Given the description of an element on the screen output the (x, y) to click on. 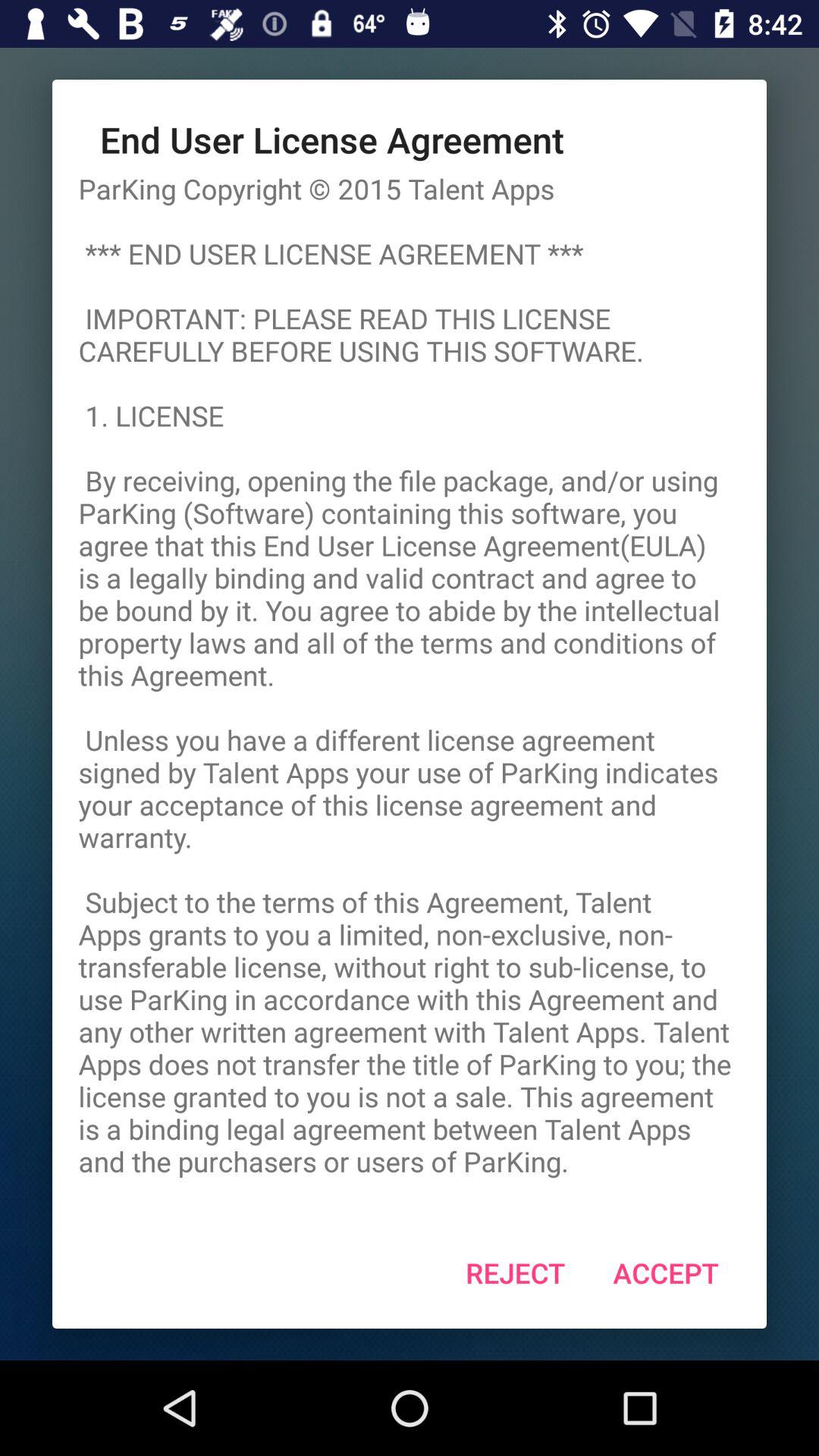
select icon below the parking copyright 2015 item (665, 1272)
